Given the description of an element on the screen output the (x, y) to click on. 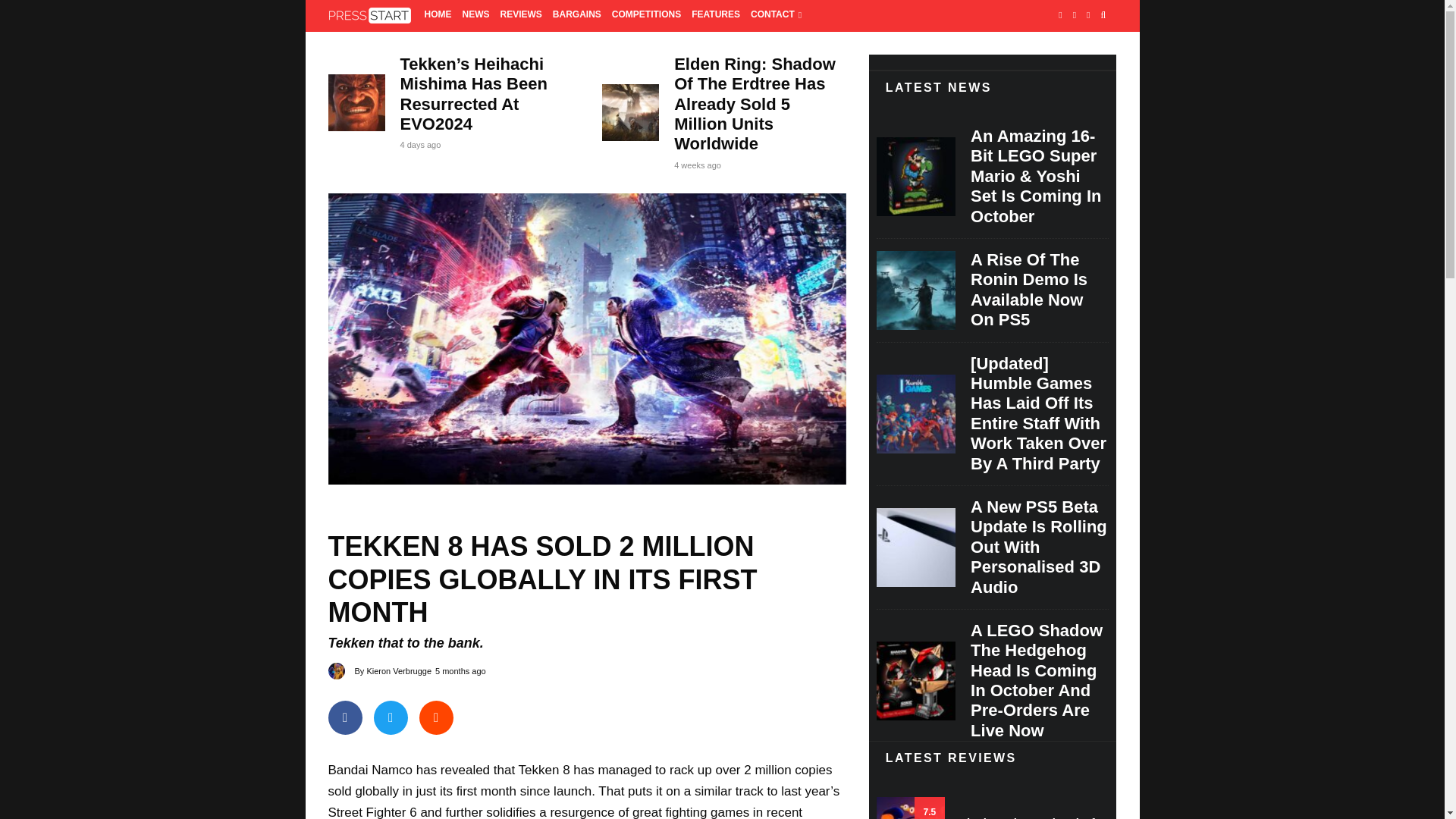
HOME (438, 15)
NEWS (476, 15)
REVIEWS (521, 15)
